Given the description of an element on the screen output the (x, y) to click on. 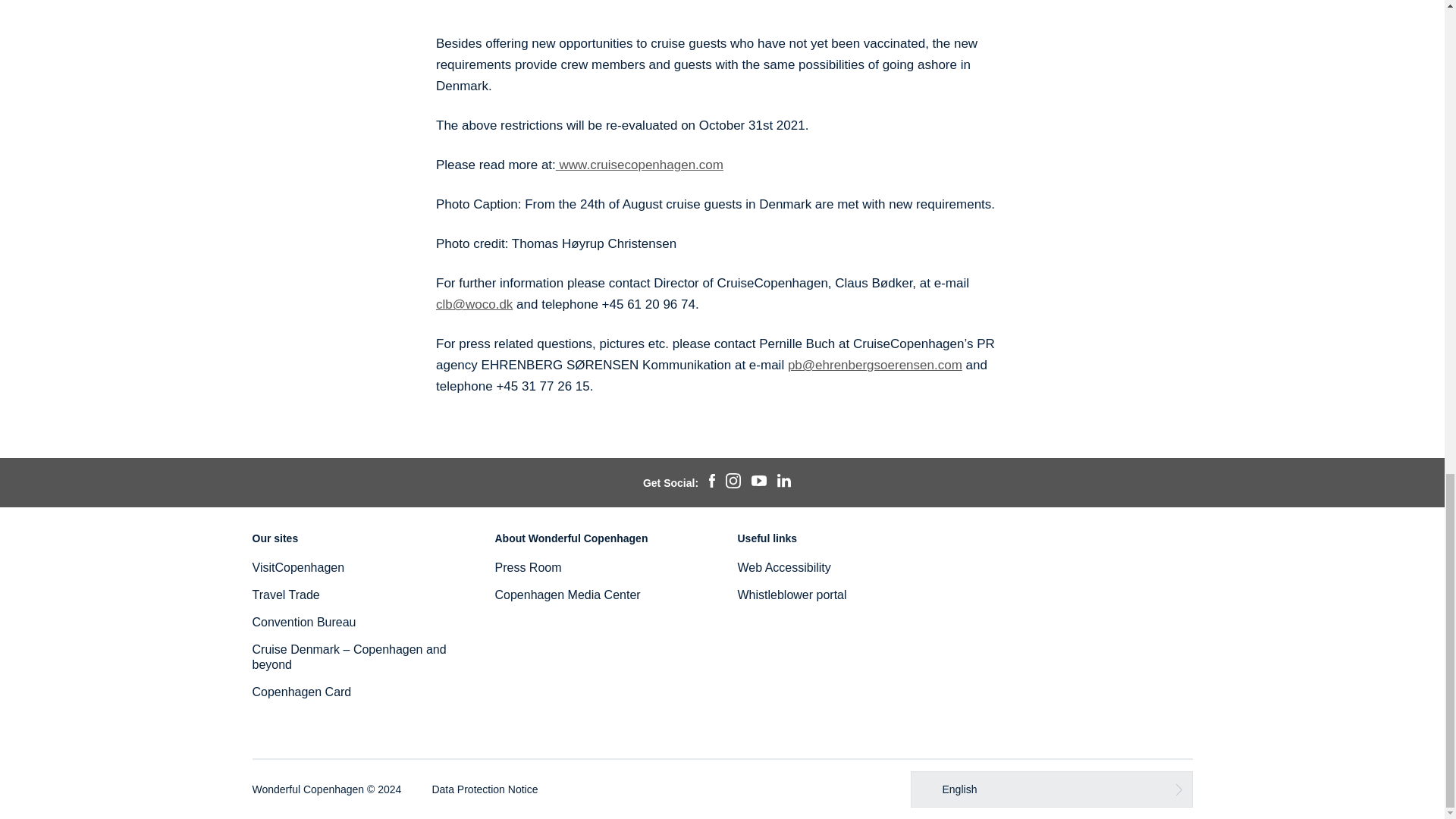
Convention Bureau (303, 621)
Copenhagen Media Center (567, 594)
youtube (758, 482)
Web Accessibility (782, 567)
Travel Trade (284, 594)
Copenhagen Card (300, 691)
Press Room  (527, 567)
Copenhagen Media Center (567, 594)
Whistleblower portal (790, 594)
Data Protection Notice (483, 789)
Copenhagen Card (300, 691)
Data Protection Notice (483, 789)
VisitCopenhagen (297, 567)
Convention Bureau (303, 621)
Travel Trade (284, 594)
